Given the description of an element on the screen output the (x, y) to click on. 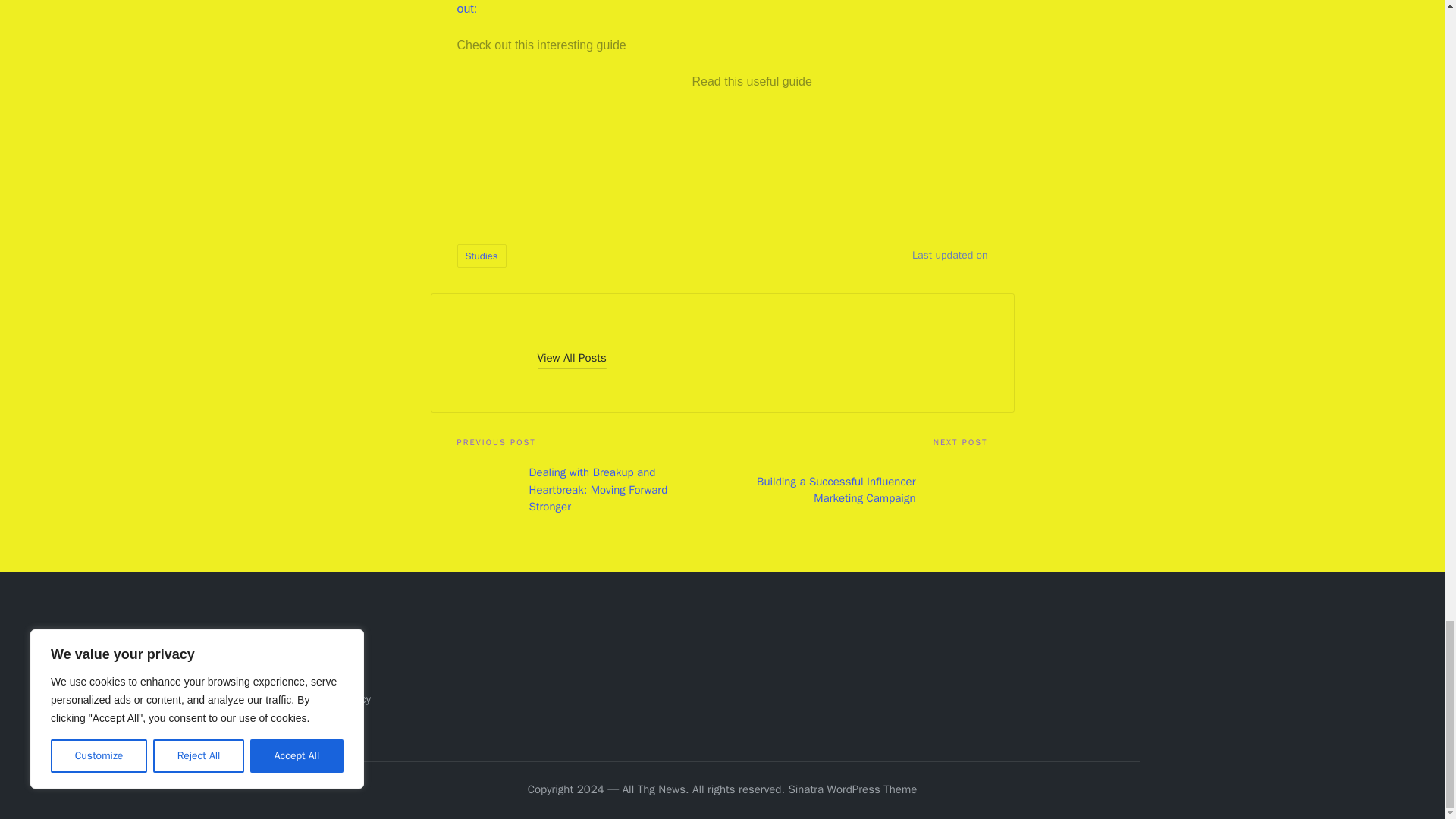
Building a Successful Influencer Marketing Campaign (854, 489)
Contact (323, 674)
View All Posts (571, 358)
Studies (481, 255)
Sinatra WordPress Theme (852, 790)
Check out this interesting guide (541, 44)
Privacy Policy (337, 698)
About (318, 649)
Read this useful guide (750, 81)
Dealing with Breakup and Heartbreak: Moving Forward Stronger (589, 489)
